Given the description of an element on the screen output the (x, y) to click on. 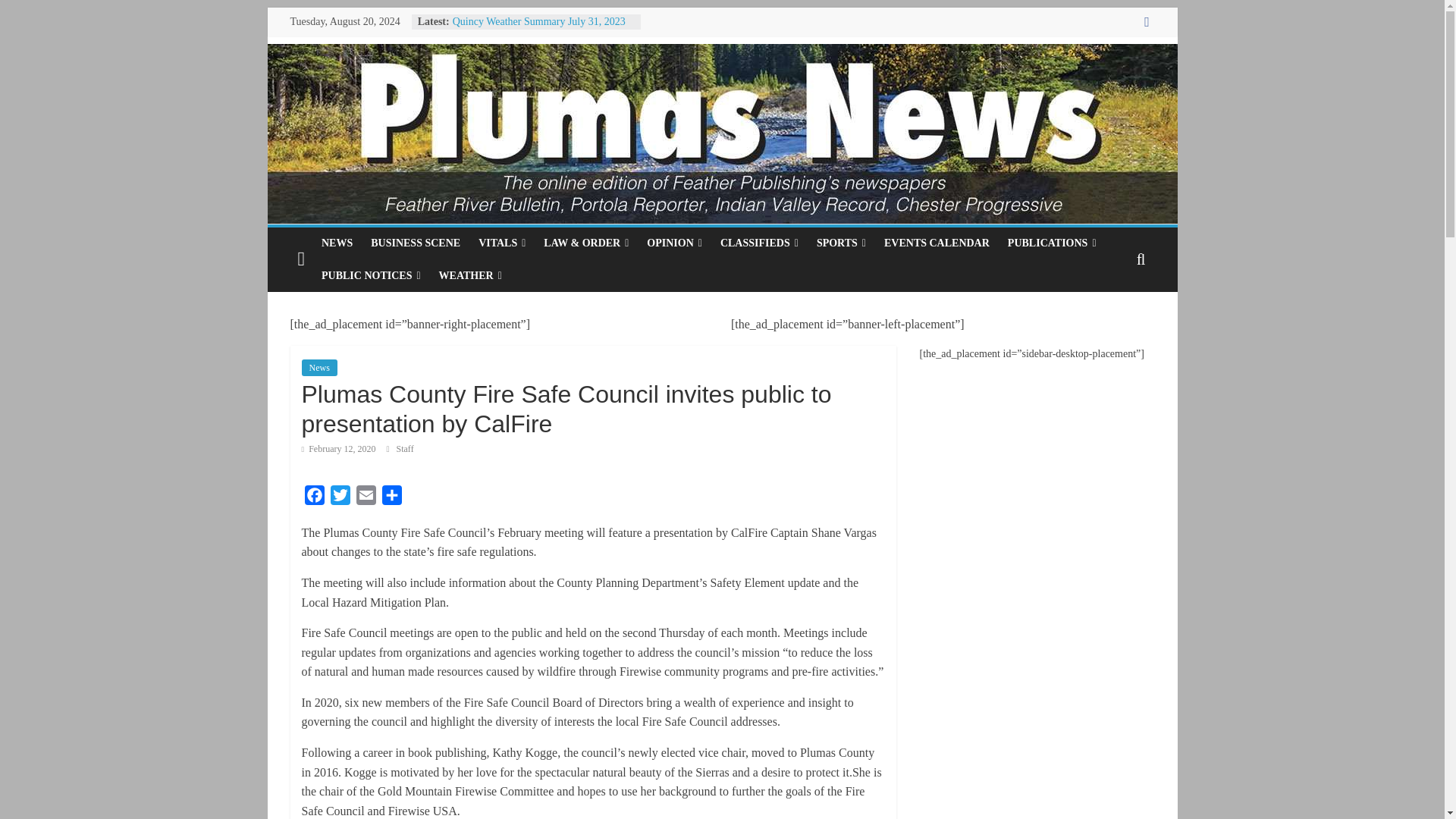
Twitter (340, 498)
VITALS (501, 243)
SPORTS (841, 243)
Quincy Weather Summary July 31, 2023 (539, 21)
Email (365, 498)
Staff (404, 448)
Quincy Weather Summary July 31, 2023 (539, 21)
CLASSIFIEDS (759, 243)
BUSINESS SCENE (414, 243)
